Given the description of an element on the screen output the (x, y) to click on. 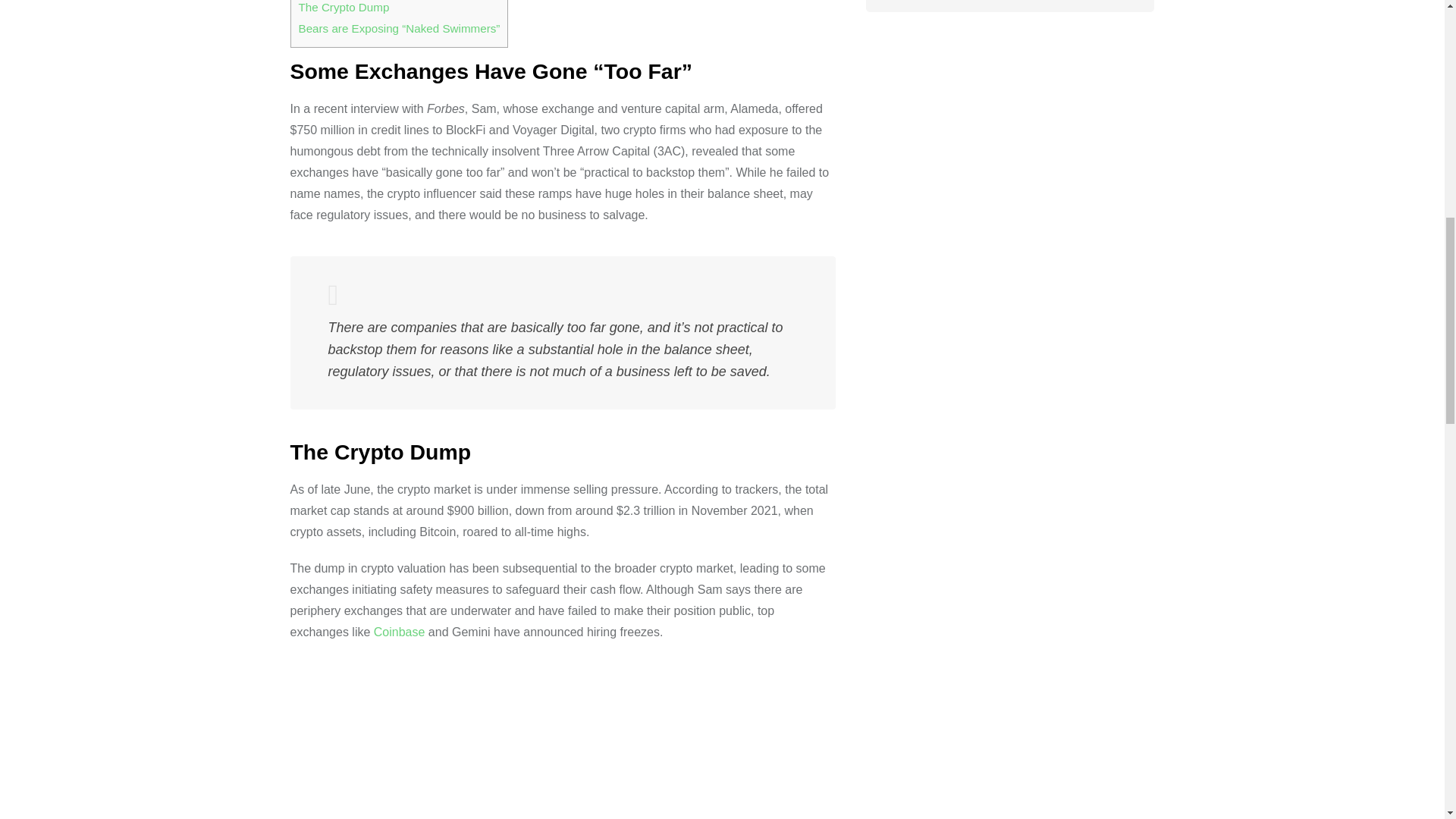
Crypto Report: Coinbase's Hiring Freeze (562, 738)
Coinbase (399, 631)
The Crypto Dump (344, 6)
